Given the description of an element on the screen output the (x, y) to click on. 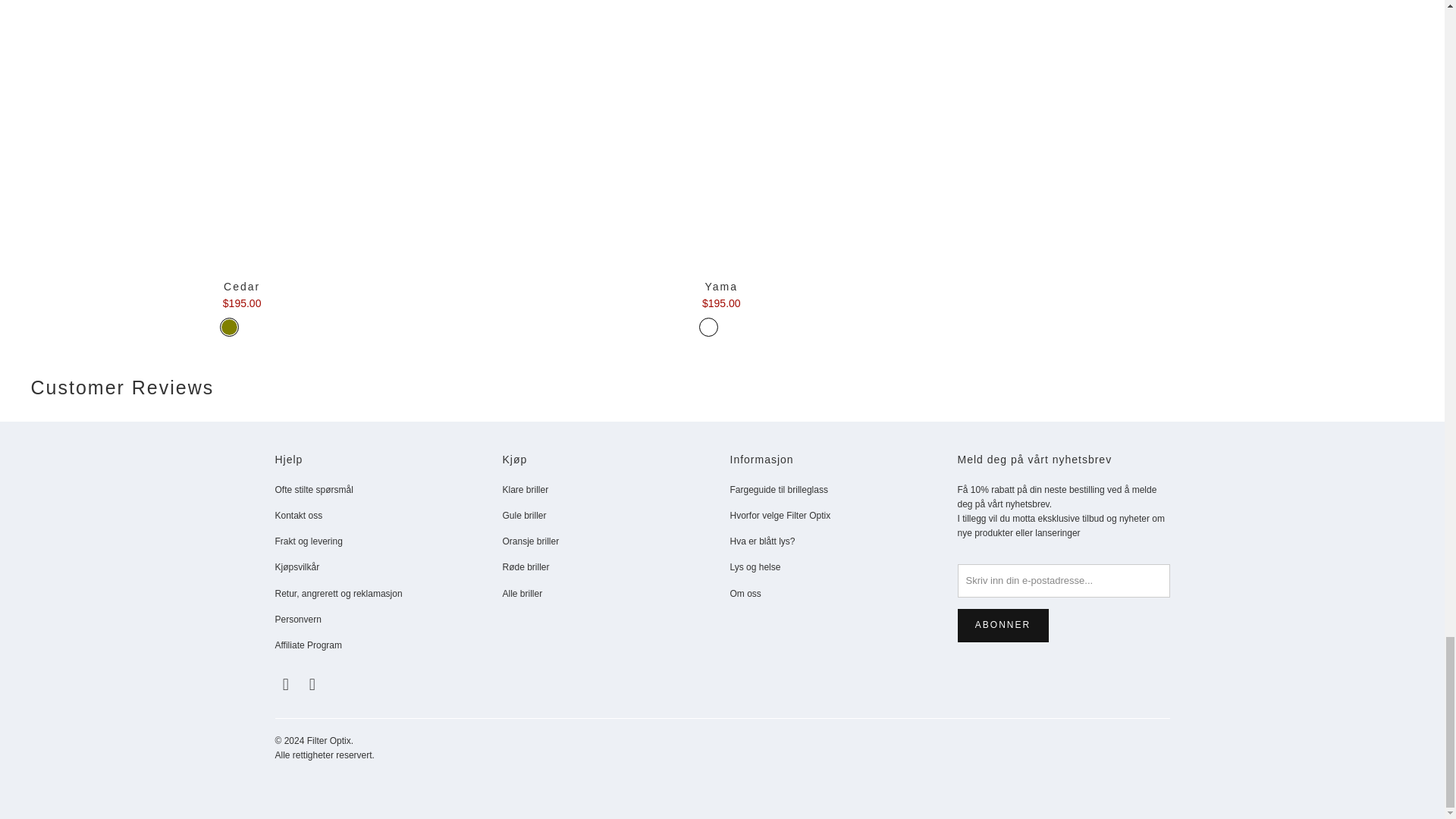
Filter Optix on Facebook (286, 684)
Abonner (1002, 625)
Filter Optix on Instagram (312, 684)
